Given the description of an element on the screen output the (x, y) to click on. 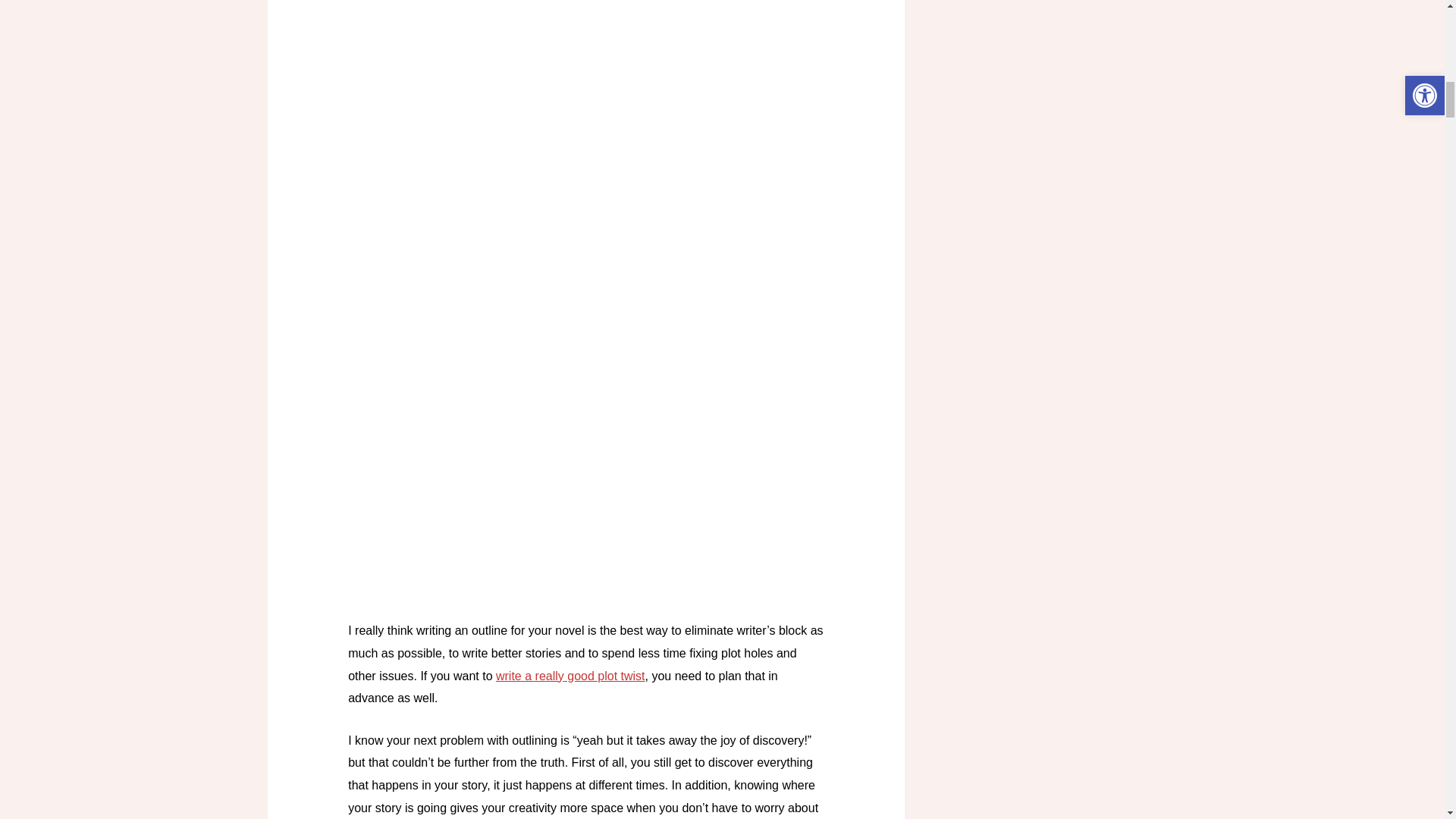
write a really good plot twist (570, 675)
write a really good plot twist (570, 675)
